Given the description of an element on the screen output the (x, y) to click on. 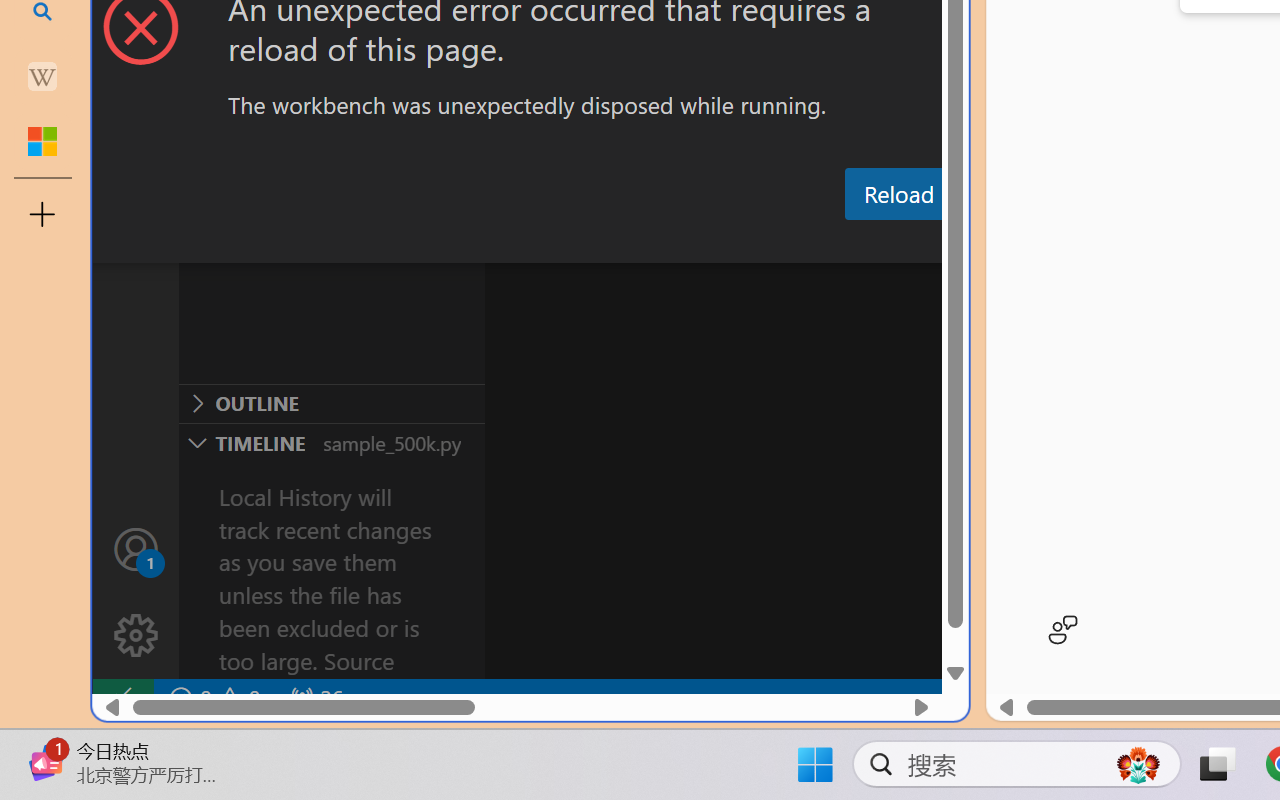
No Problems (212, 698)
Outline Section (331, 403)
Accounts - Sign in requested (135, 548)
Reload (898, 193)
Debug Console (Ctrl+Shift+Y) (854, 243)
Timeline Section (331, 442)
Terminal (Ctrl+`) (1021, 243)
